Given the description of an element on the screen output the (x, y) to click on. 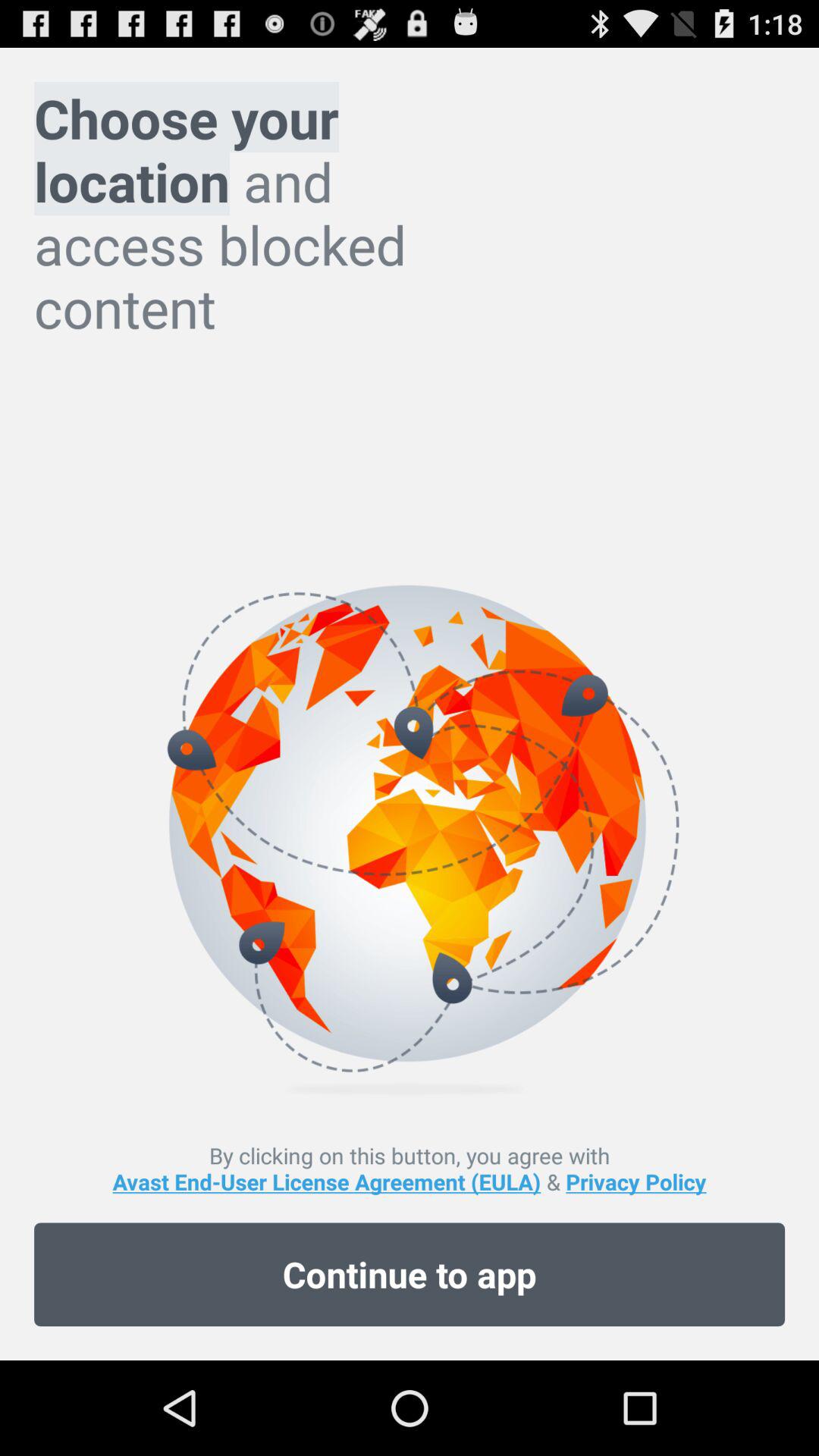
open the icon above continue to app item (409, 1168)
